Given the description of an element on the screen output the (x, y) to click on. 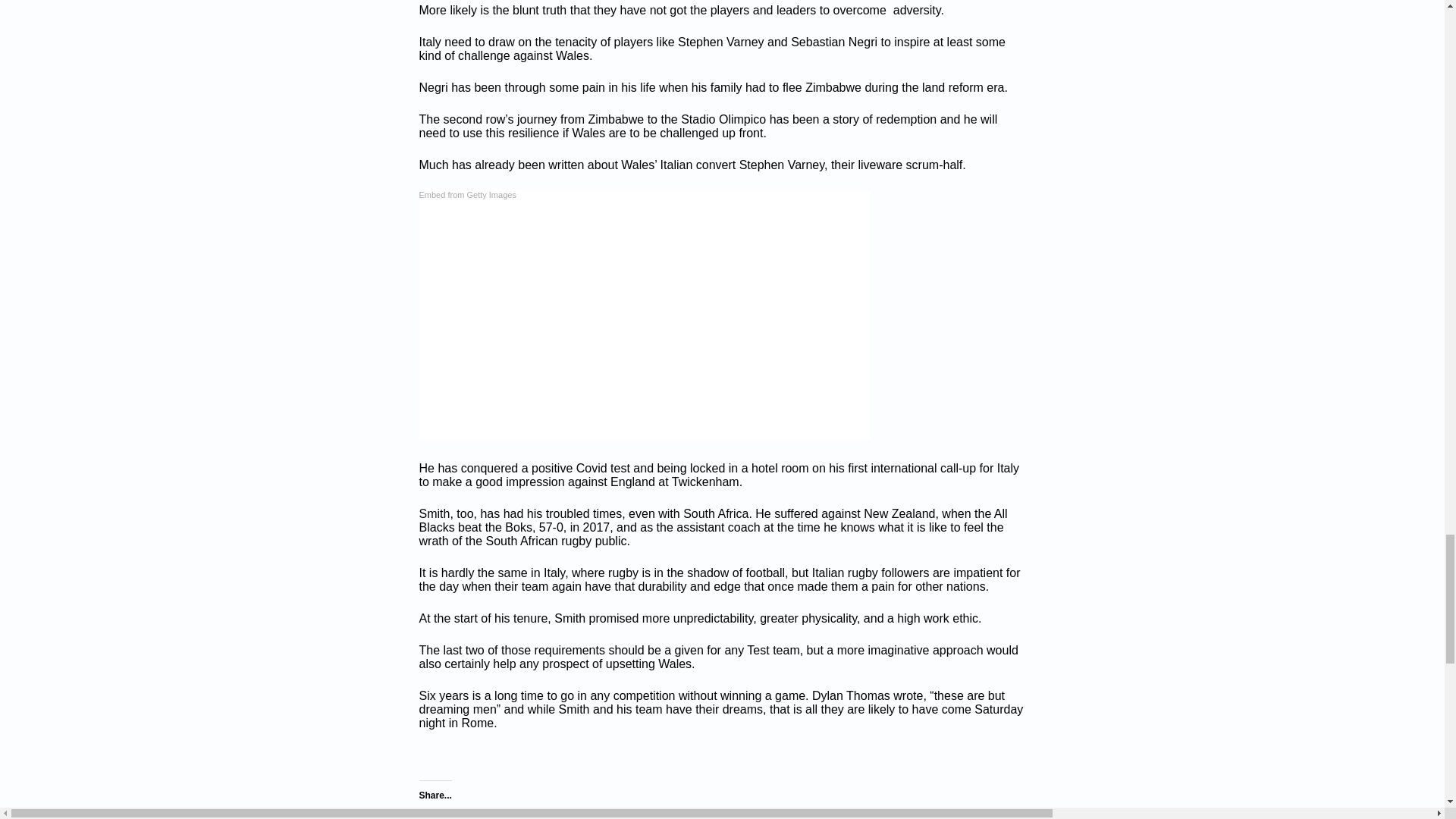
Click to share on Facebook (460, 814)
Click to print (491, 814)
Click to email a link to a friend (521, 814)
Click to share on Twitter (430, 814)
